Given the description of an element on the screen output the (x, y) to click on. 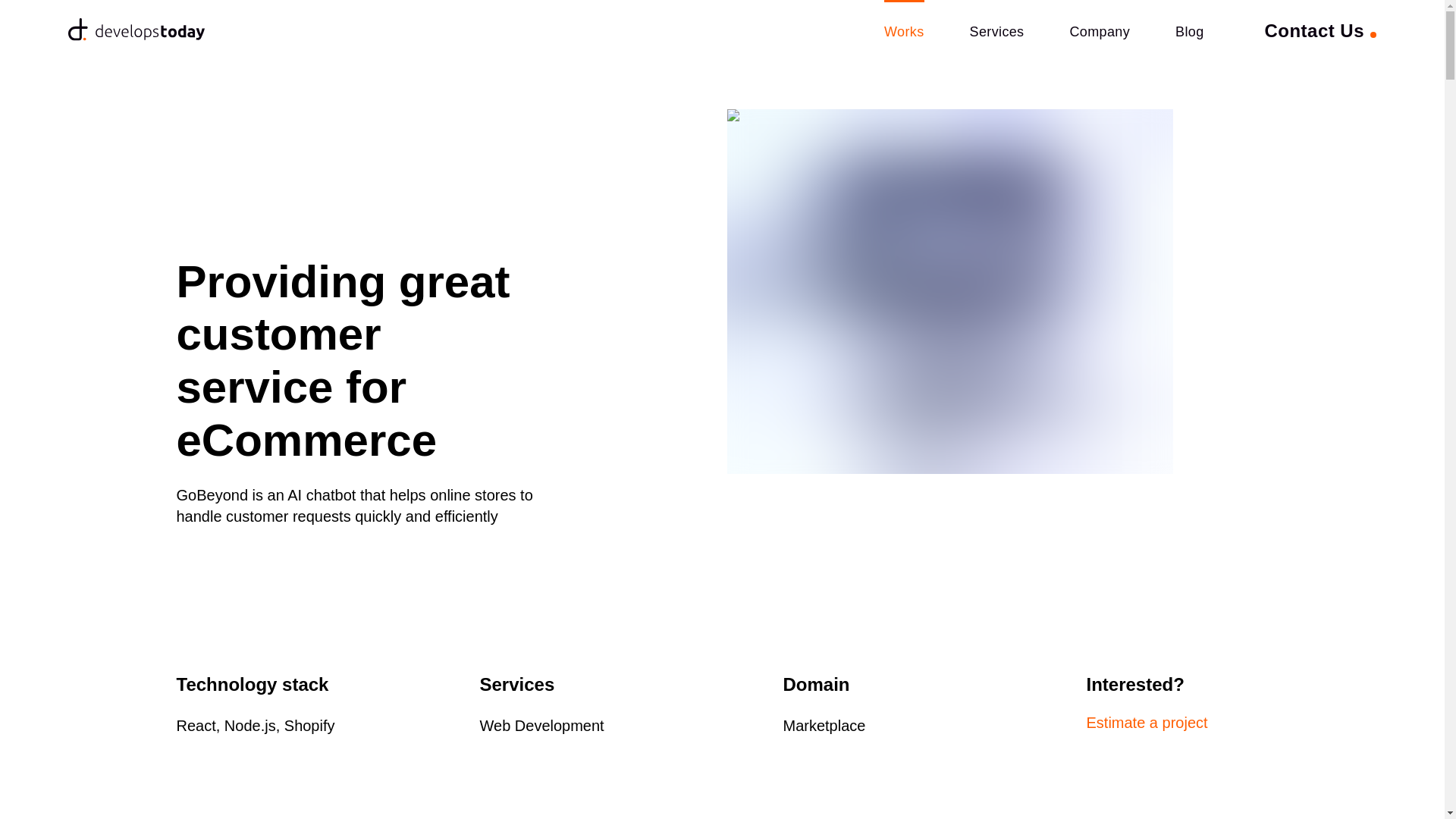
Services (997, 30)
Estimate a project (1177, 722)
Contact Us (1320, 30)
Company (1098, 30)
